Given the description of an element on the screen output the (x, y) to click on. 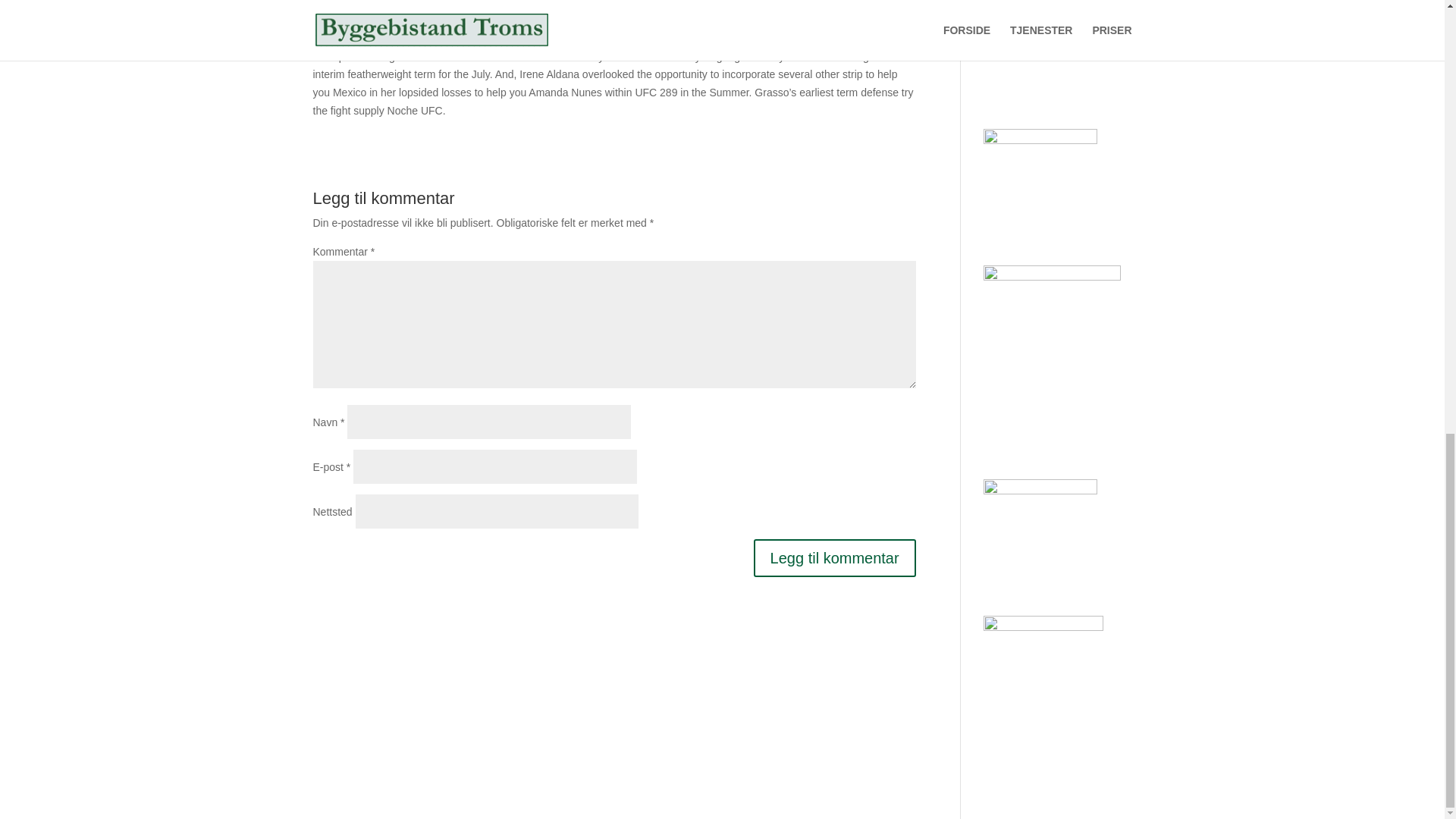
Legg til kommentar (834, 557)
Legg til kommentar (834, 557)
